Given the description of an element on the screen output the (x, y) to click on. 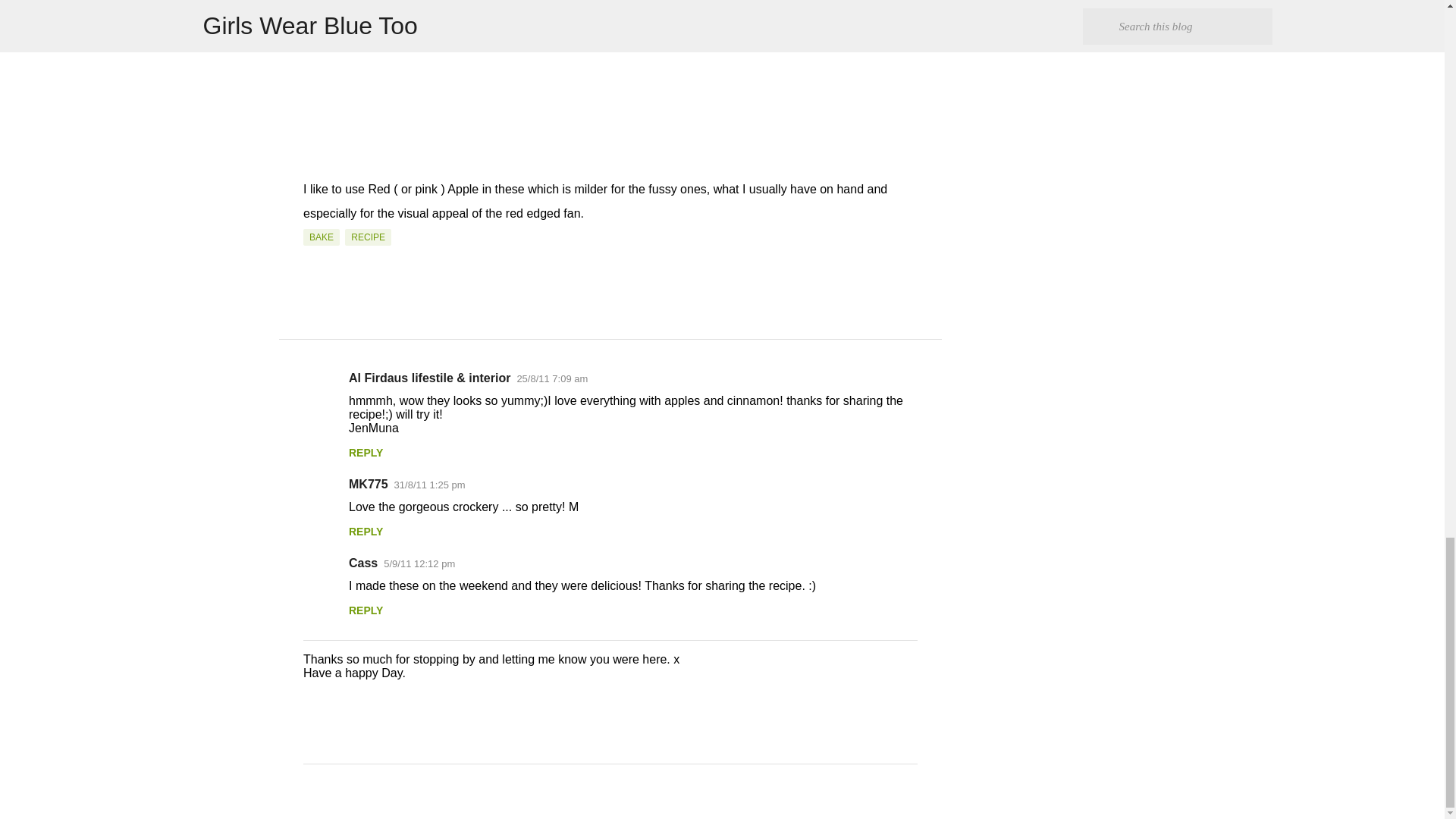
REPLY (365, 610)
BAKE (320, 237)
REPLY (365, 531)
REPLY (365, 452)
Cass (363, 562)
MK775 (368, 483)
RECIPE (368, 237)
